Given the description of an element on the screen output the (x, y) to click on. 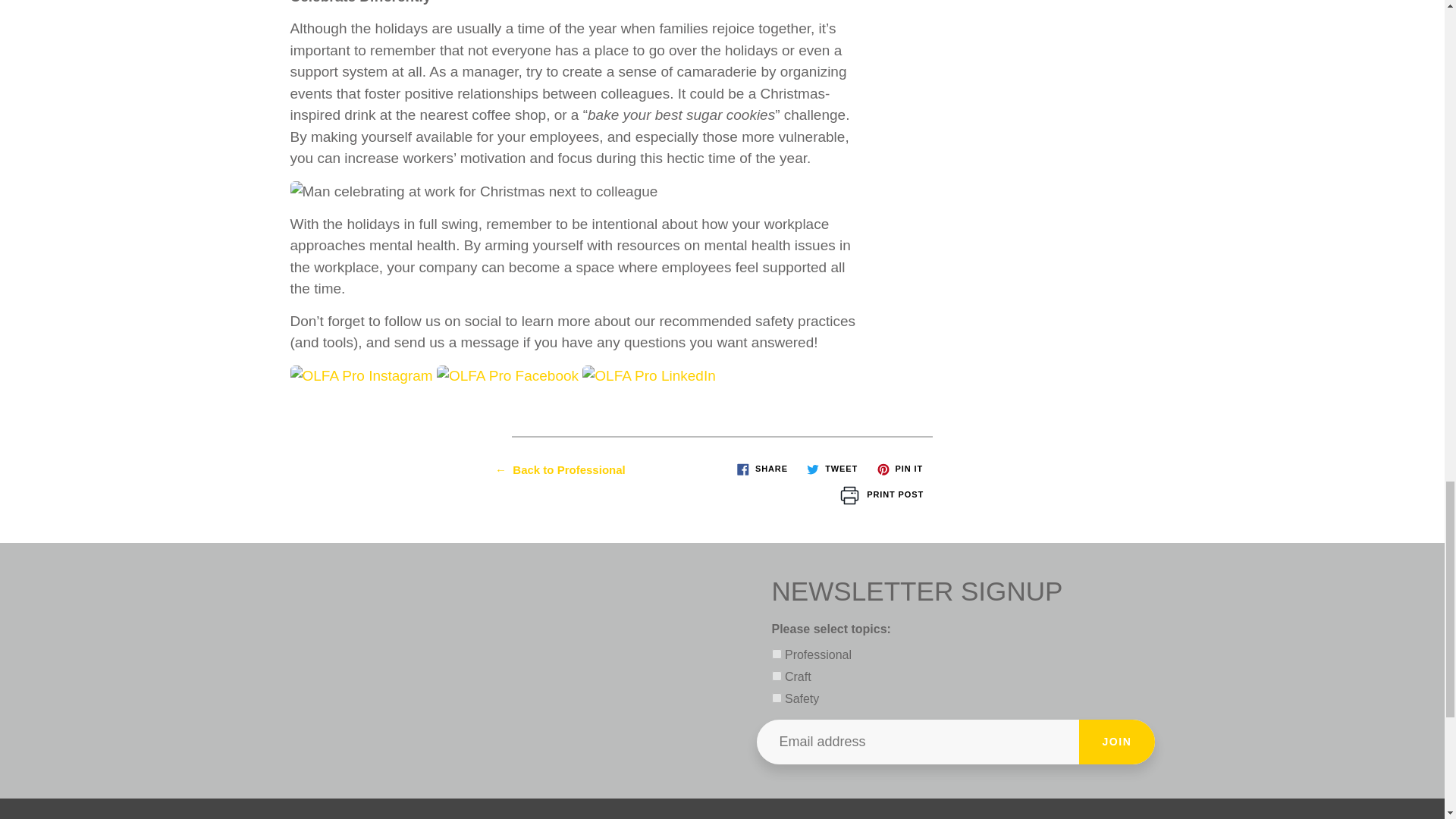
OLFA Pro LinkedIn (649, 374)
news-pro (776, 654)
Pin on Pinterest (899, 468)
news-safety (776, 697)
OLFA Pro Instagram (360, 374)
Share on Facebook (761, 468)
news-craft (776, 675)
Tweet on Twitter (831, 468)
OLFA Pro Facebook (507, 374)
